Given the description of an element on the screen output the (x, y) to click on. 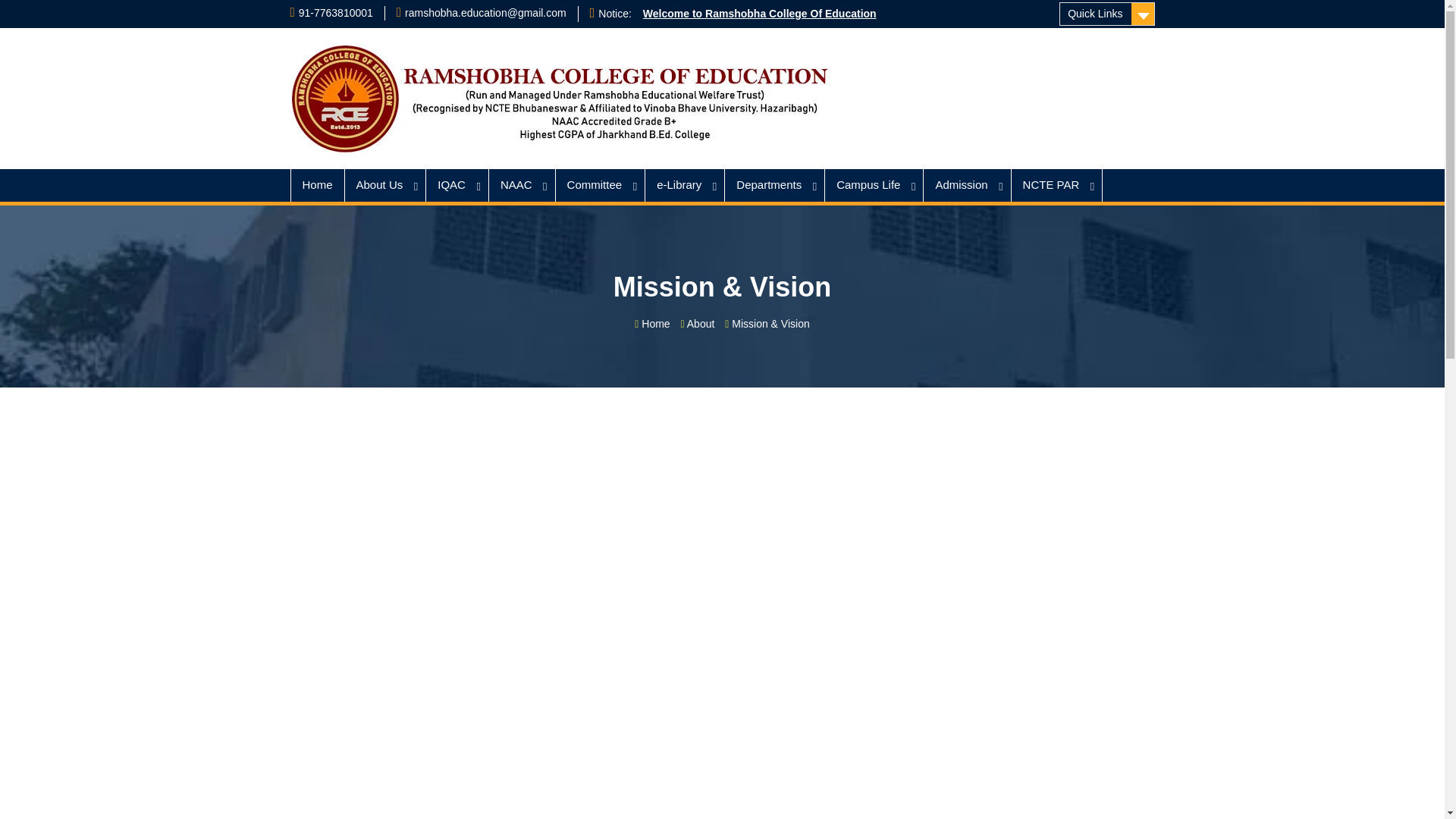
Home (316, 184)
91-7763810001 (335, 12)
About Us (385, 184)
IQAC (457, 184)
Welcome to Ramshobha College Of Education (759, 13)
Quick Links (1106, 13)
